Given the description of an element on the screen output the (x, y) to click on. 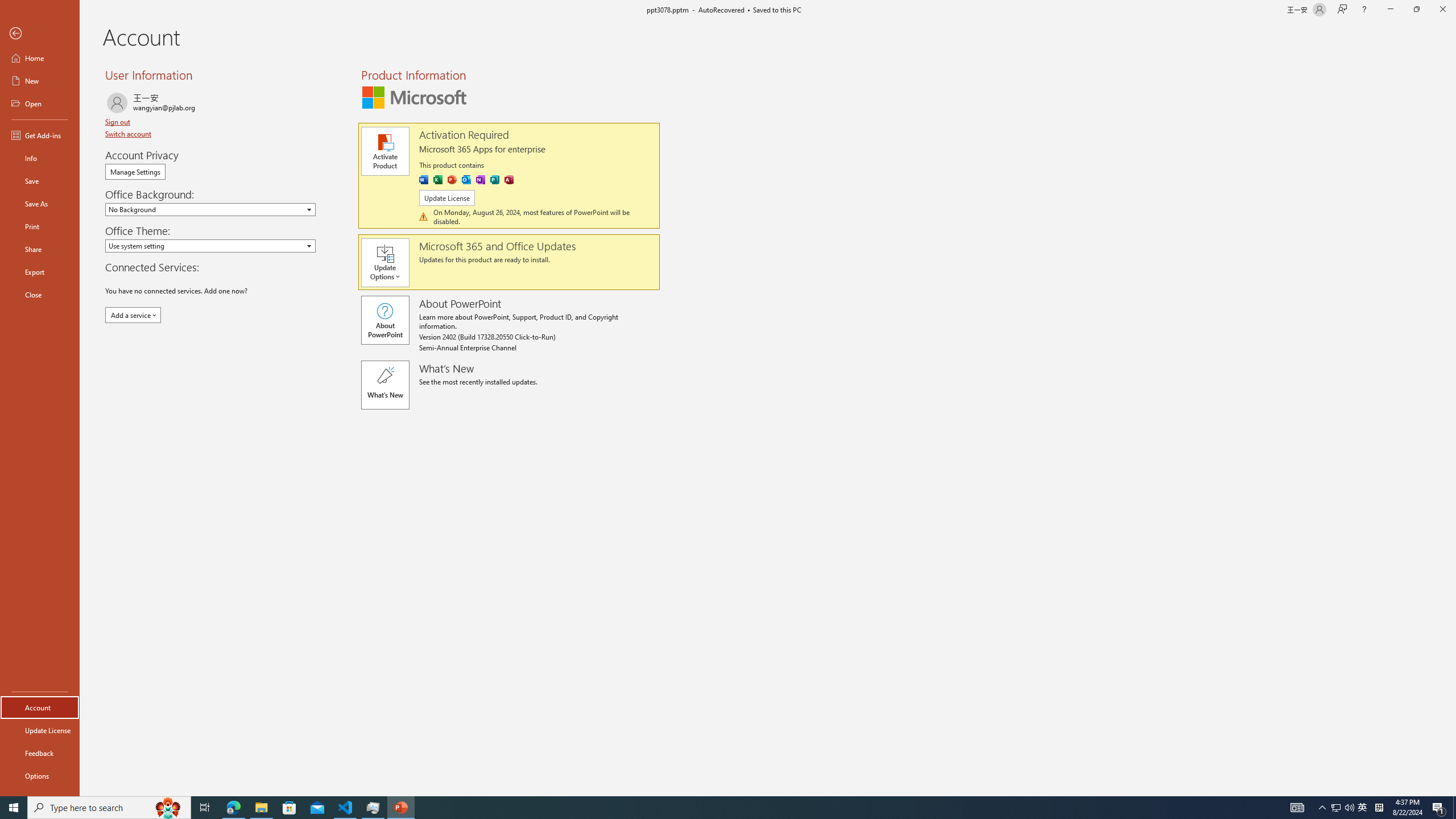
Page 1 content (720, 485)
Justify (474, 102)
Replace... (1078, 91)
Shrink Font (266, 77)
Styles... (1034, 128)
Sort... (599, 77)
